Given the description of an element on the screen output the (x, y) to click on. 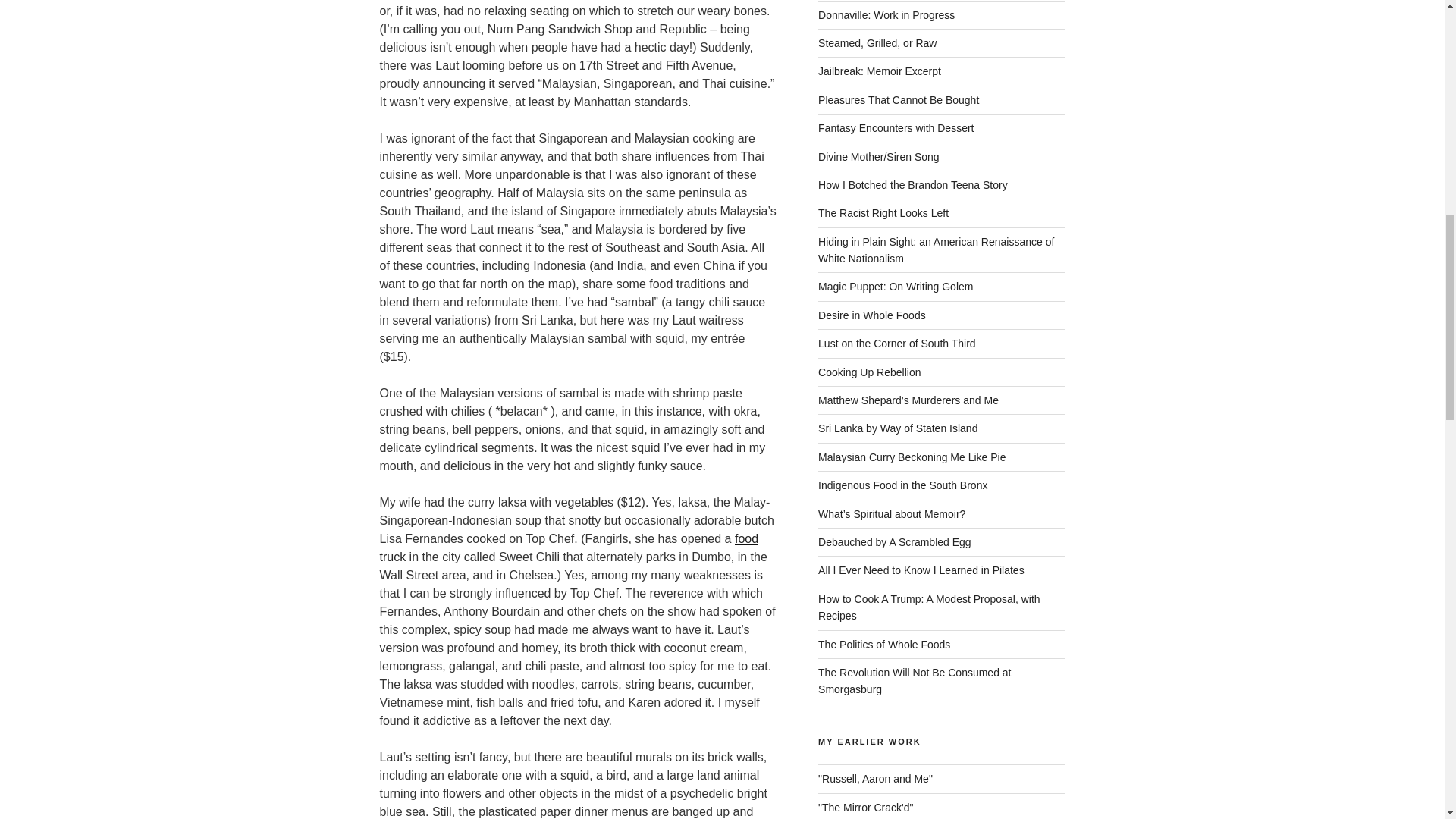
The Hitler inside us (865, 806)
My Salon essay on the murder of Matthew Shepard (875, 778)
food truck (568, 547)
